Given the description of an element on the screen output the (x, y) to click on. 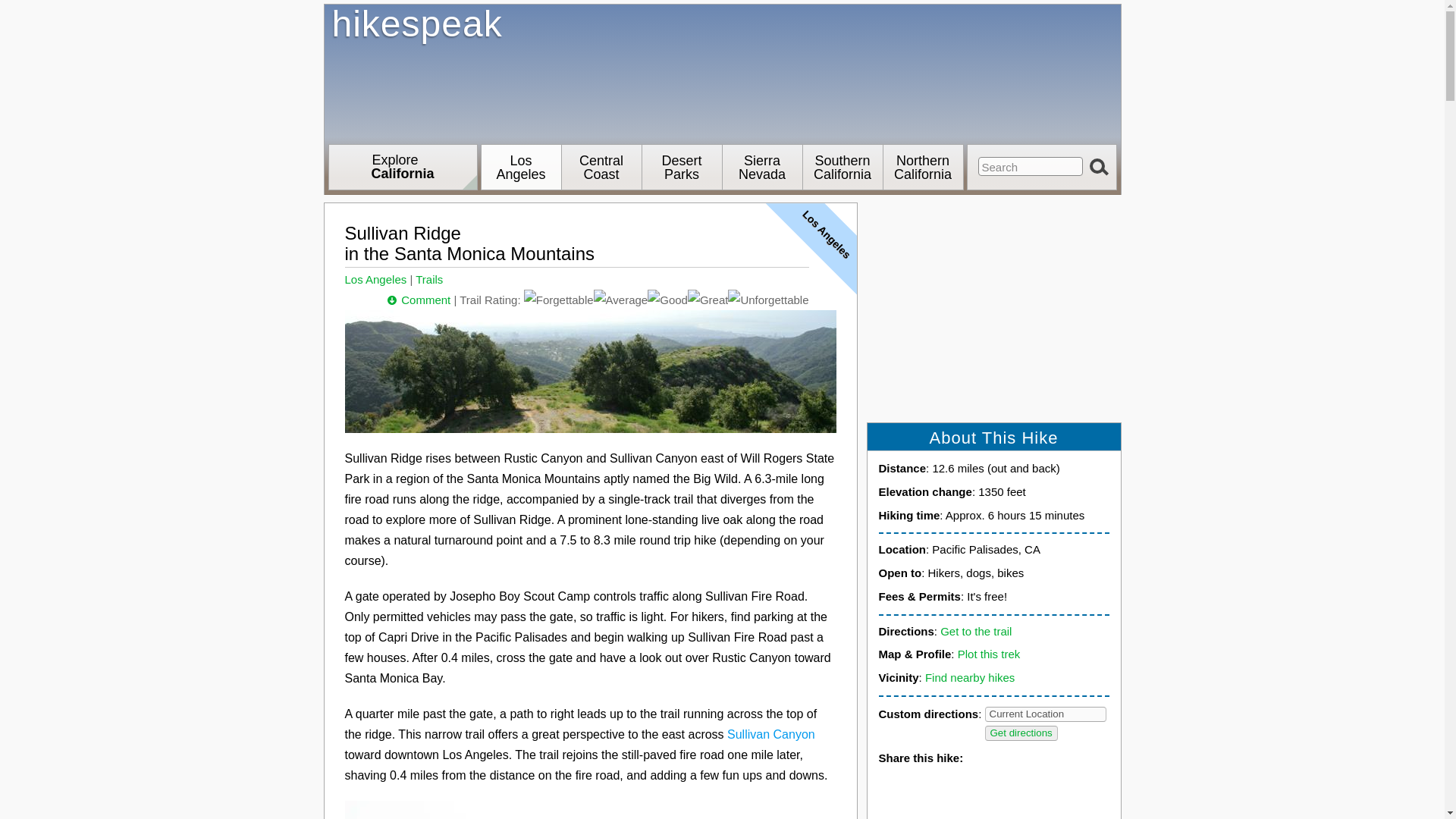
Get directions (1020, 733)
Search (403, 166)
Los Angeles (1030, 166)
Desert Parks (520, 166)
Current Location (681, 166)
hikespeak (1045, 713)
Find hikes on hikespeak (722, 70)
Central Coast (722, 70)
Sierra Nevada (600, 166)
